Given the description of an element on the screen output the (x, y) to click on. 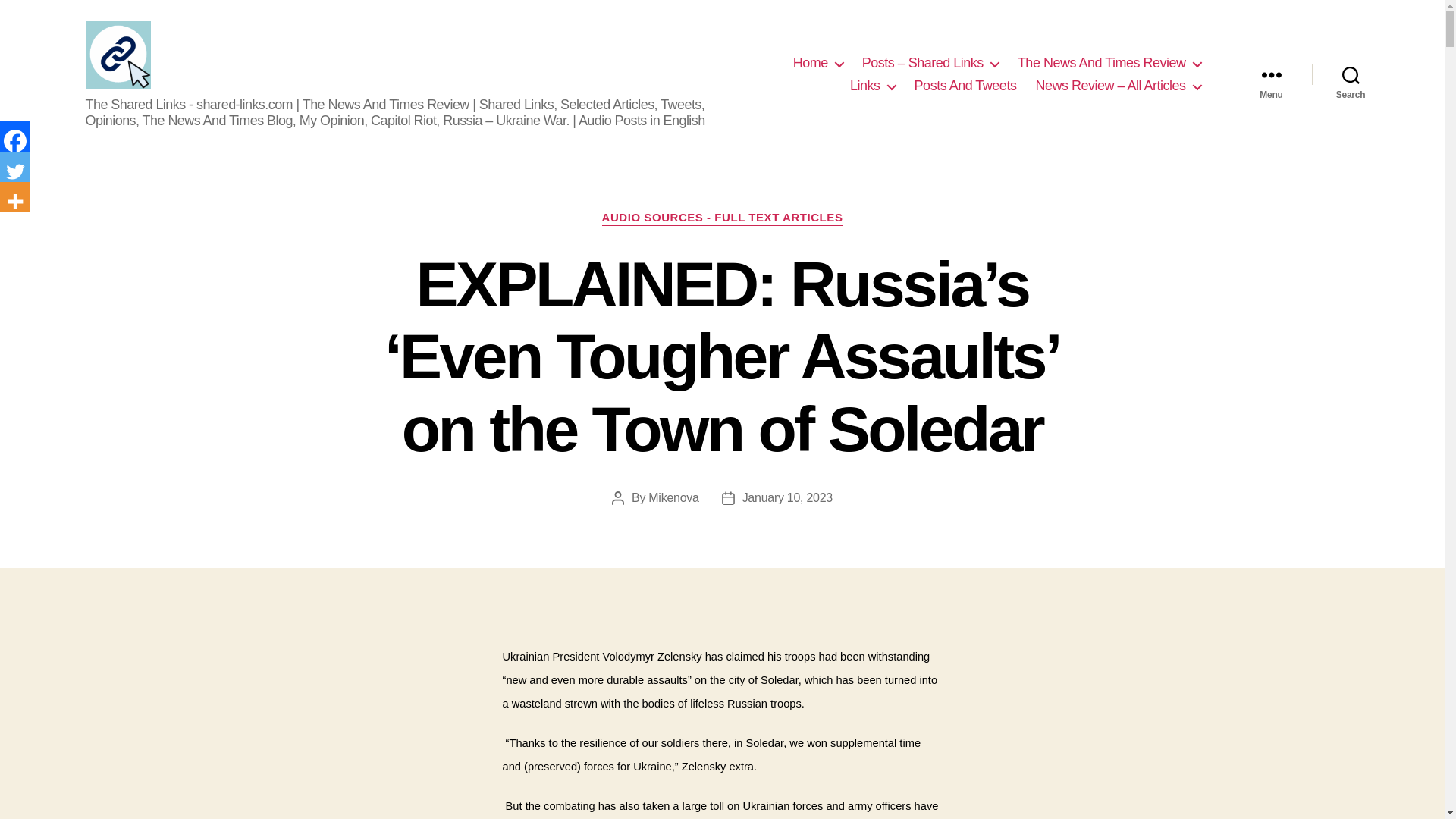
Menu (1271, 74)
Home (818, 63)
The News And Times Review (1109, 63)
Links (872, 86)
More (15, 196)
Search (1350, 74)
Twitter (15, 166)
Facebook (15, 136)
Posts And Tweets (965, 86)
